Given the description of an element on the screen output the (x, y) to click on. 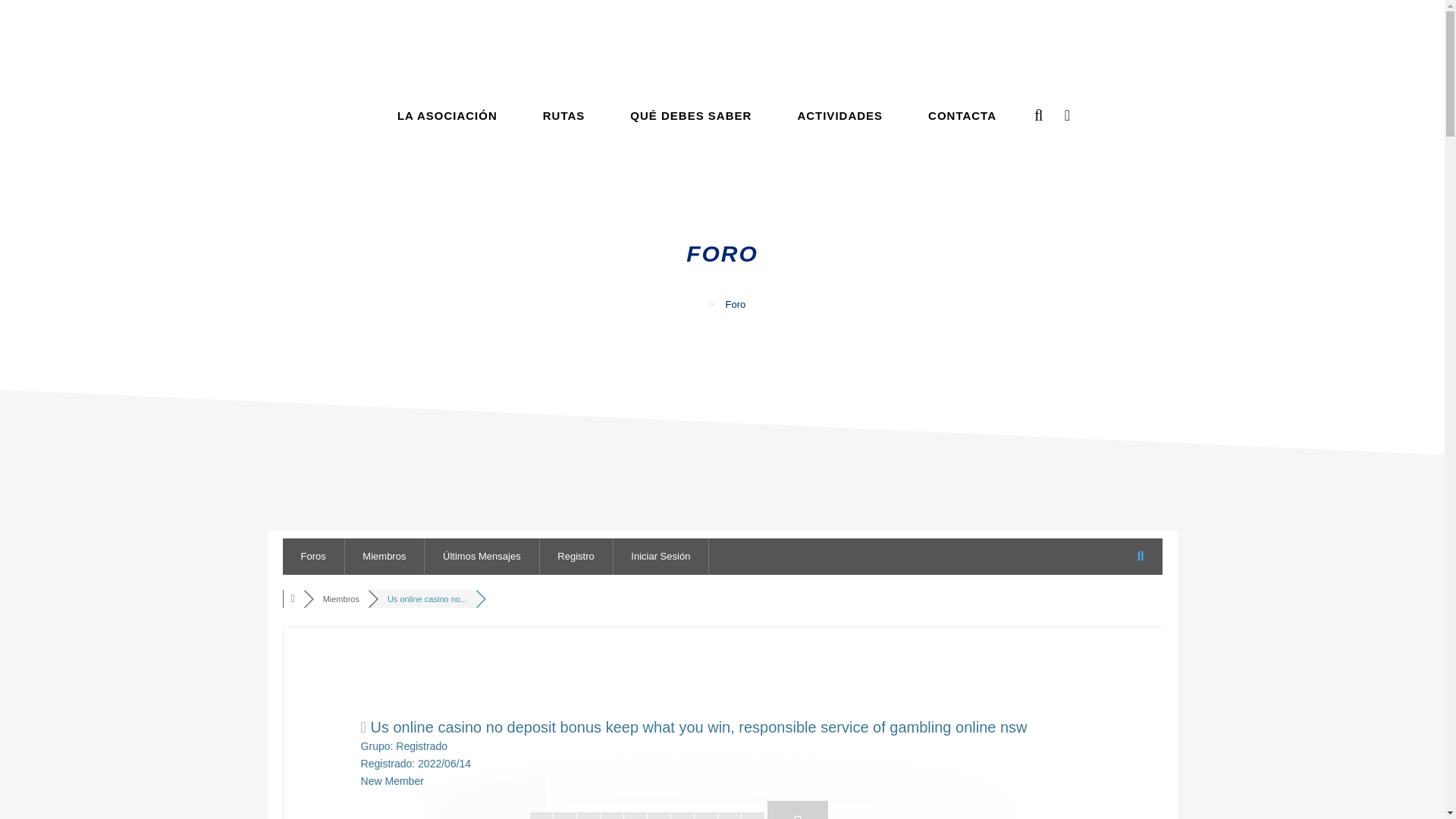
Rating Title (392, 780)
Foros (293, 598)
Emblema del Nivel (797, 809)
Nivel del Usuario (647, 815)
